Given the description of an element on the screen output the (x, y) to click on. 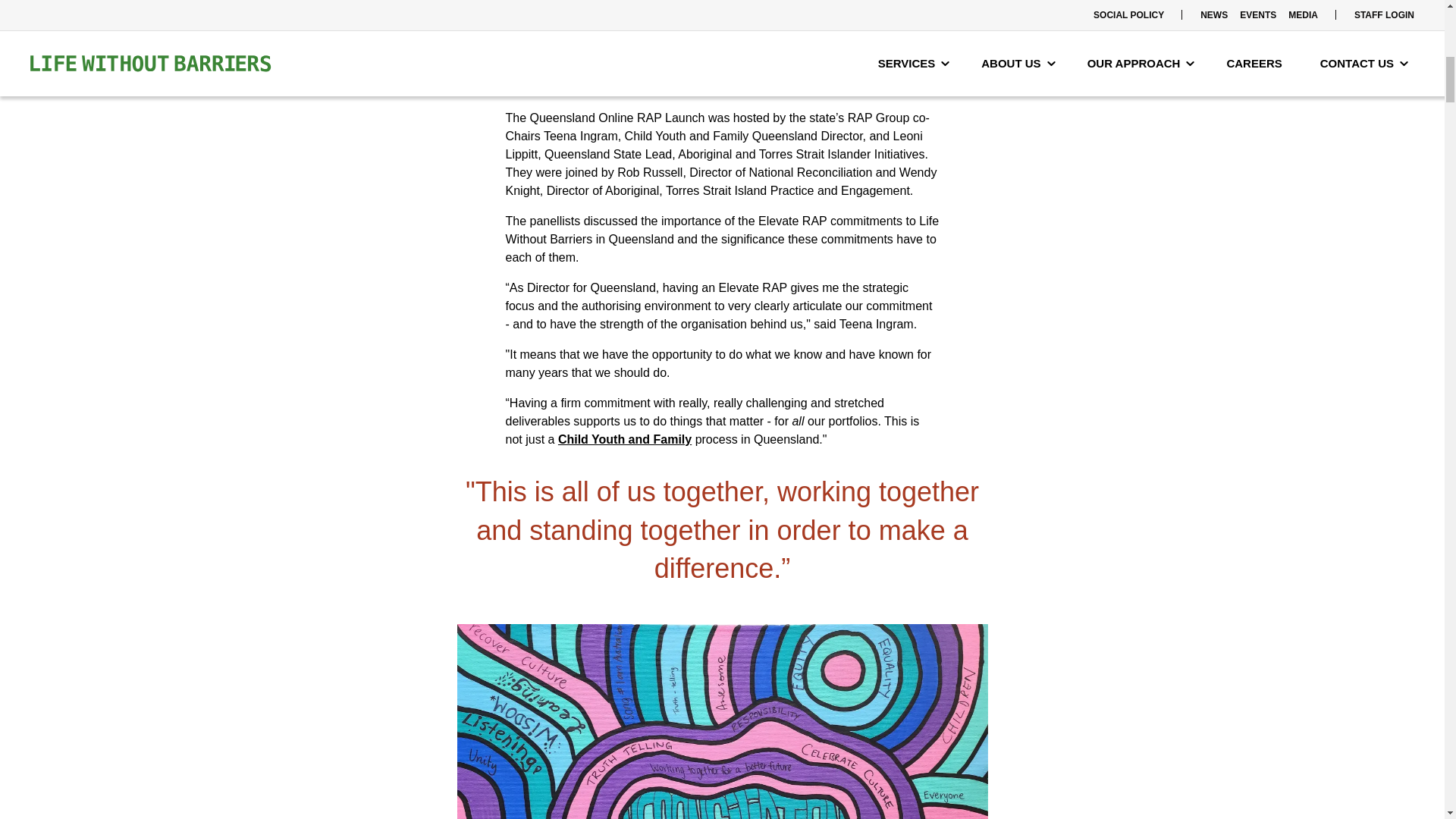
Child Youth and Family (624, 439)
Elevate Reconciliation Action Plan (717, 78)
